Given the description of an element on the screen output the (x, y) to click on. 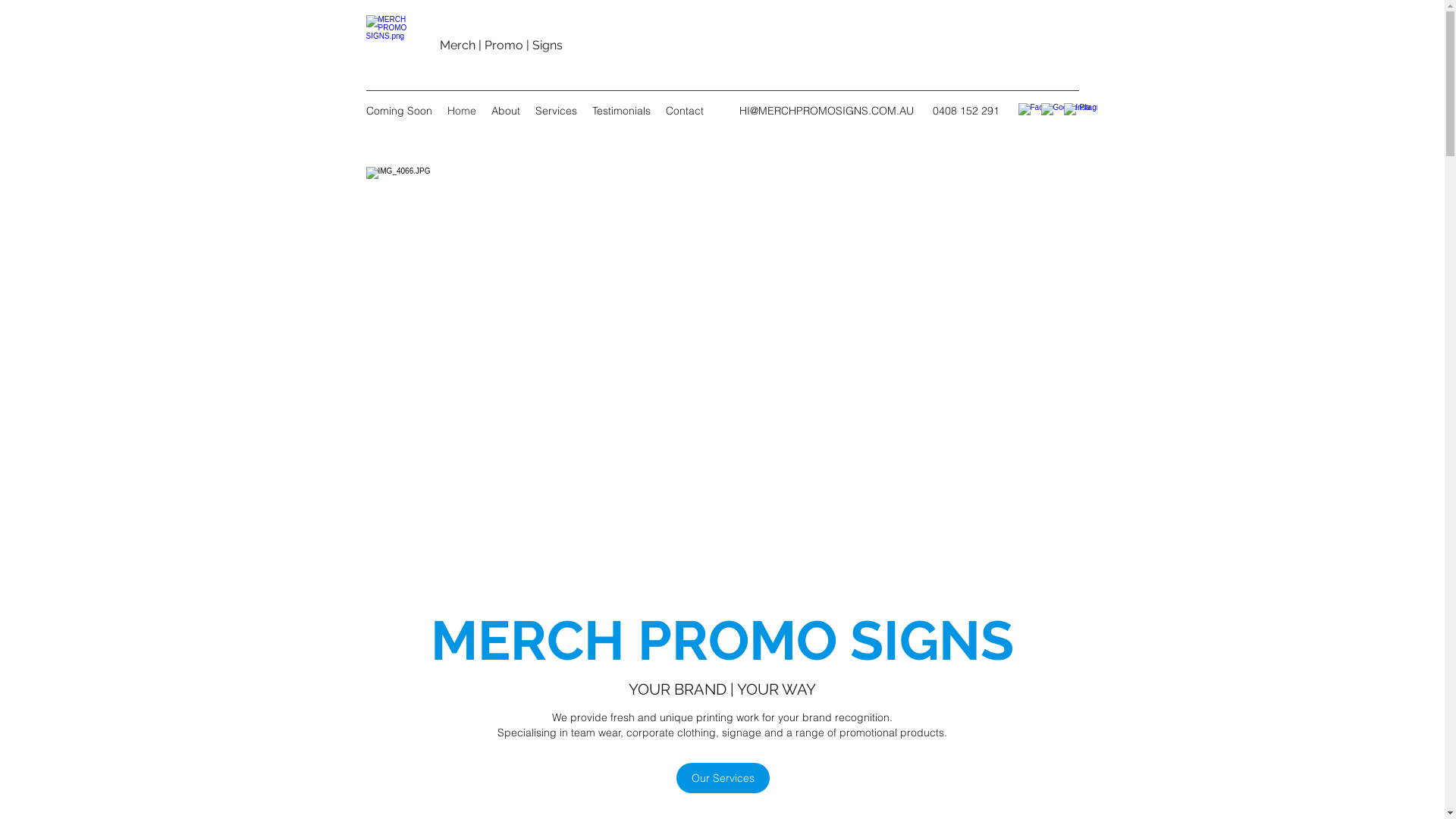
Testimonials Element type: text (620, 110)
Coming Soon Element type: text (398, 110)
Home Element type: text (461, 110)
HI@MERCHPROMOSIGNS.COM.AU Element type: text (825, 110)
About Element type: text (505, 110)
Services Element type: text (555, 110)
Contact Element type: text (684, 110)
Our Services Element type: text (722, 777)
